Given the description of an element on the screen output the (x, y) to click on. 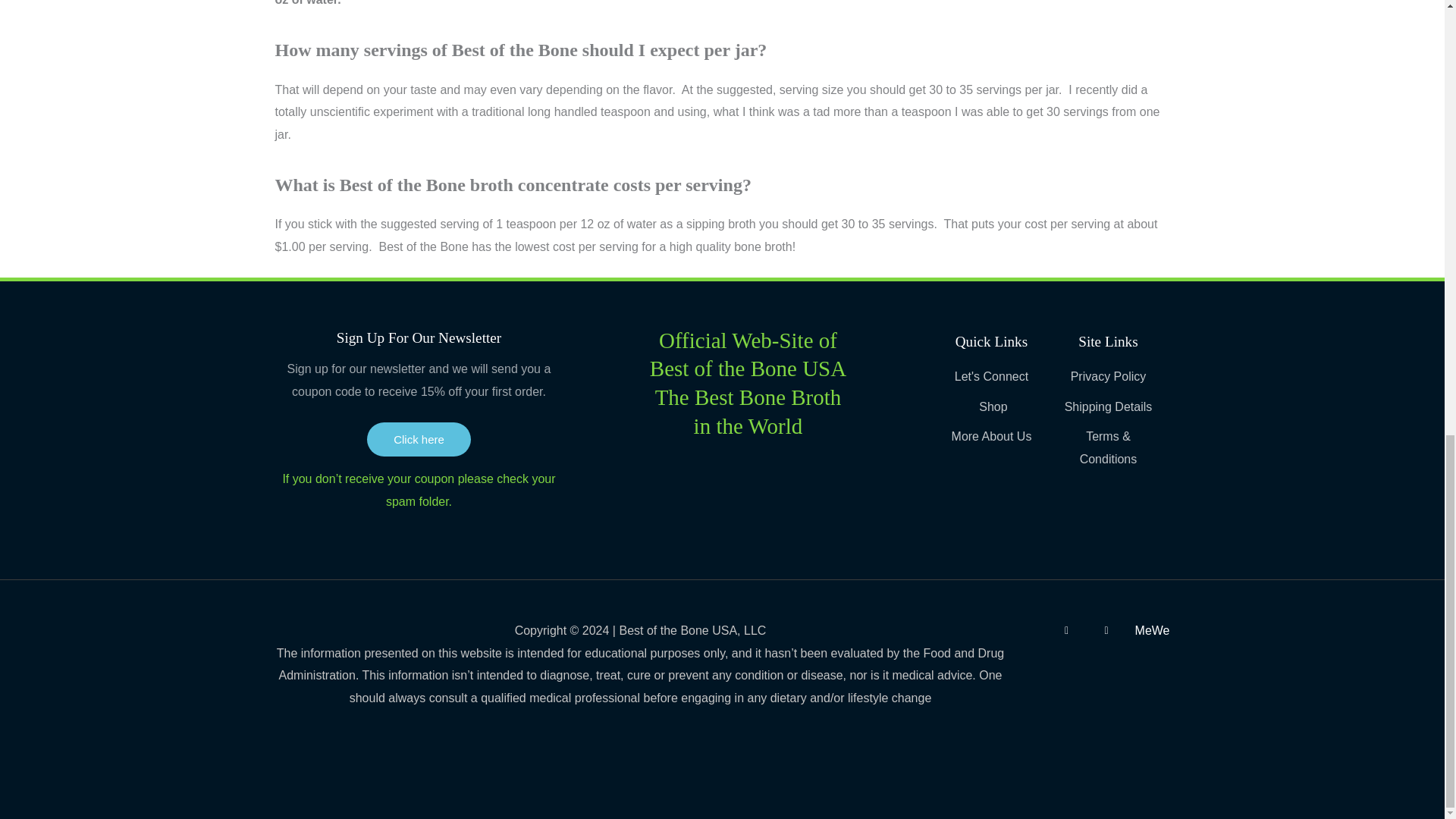
Privacy Policy (1107, 376)
Click here (418, 439)
Shop (991, 406)
MeWe (1152, 630)
Shipping Details (1107, 406)
More About Us (991, 436)
Let's Connect (991, 376)
